Given the description of an element on the screen output the (x, y) to click on. 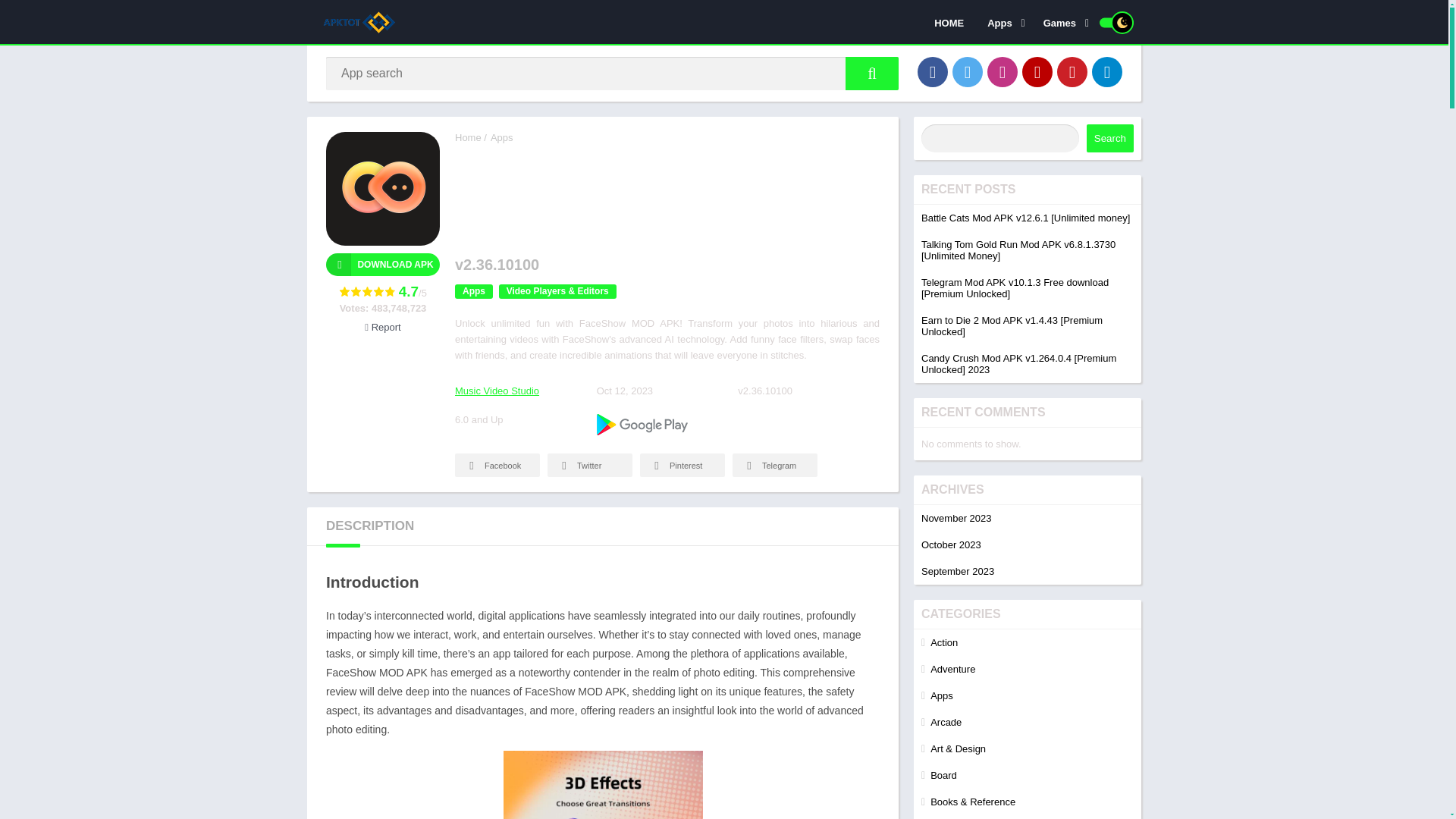
Facebook (932, 71)
Pinterest (1072, 71)
Apps (1002, 22)
Instagram (1002, 71)
Apps (473, 291)
Home (467, 137)
DOWNLOAD APK (382, 264)
Apps (501, 137)
Download APK (382, 264)
Report (382, 326)
